Given the description of an element on the screen output the (x, y) to click on. 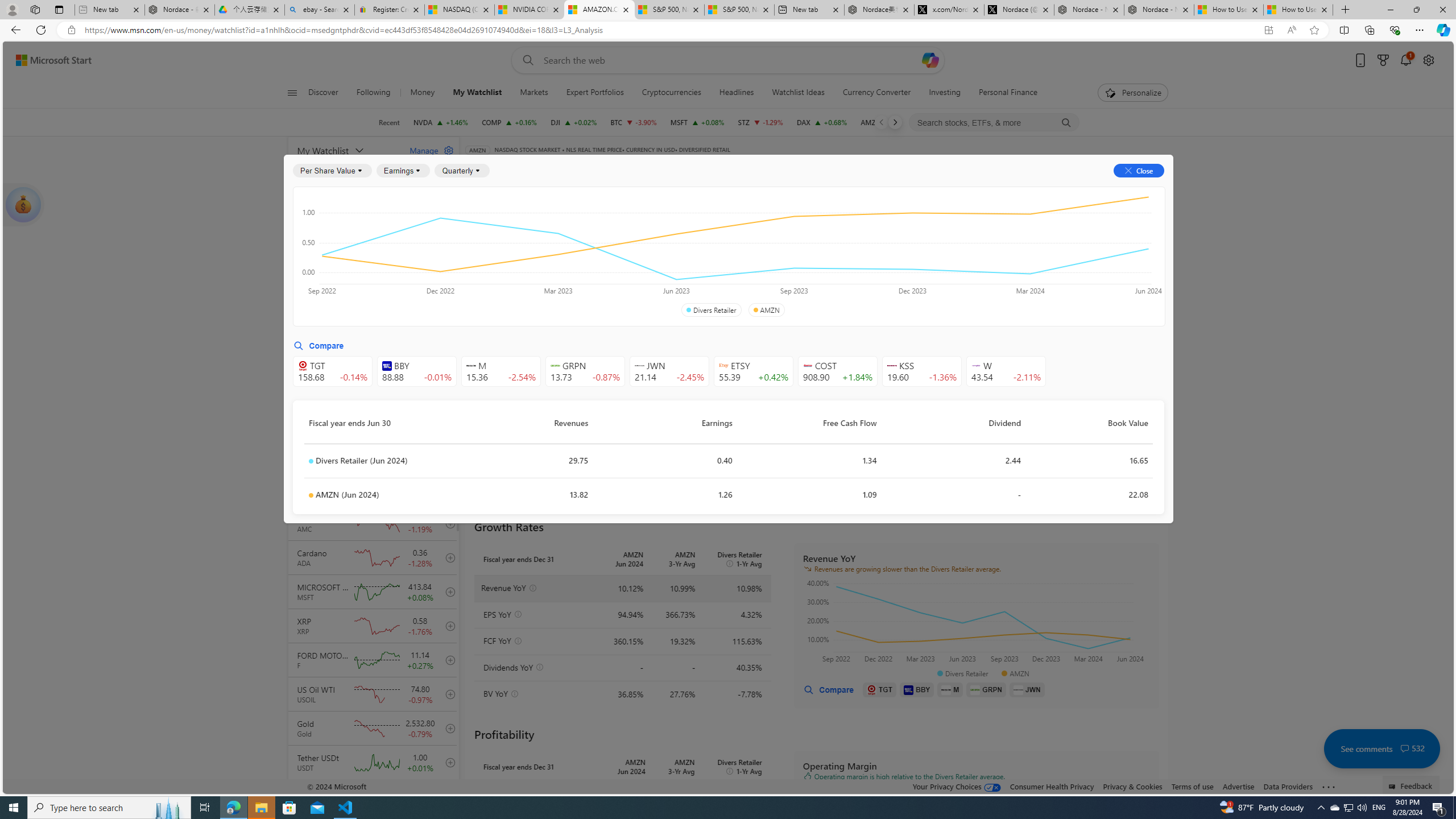
Headlines (736, 92)
Read aloud this page (Ctrl+Shift+U) (1291, 29)
Investing (944, 92)
Consumer Health Privacy (1051, 786)
Compare (827, 689)
Analysis (901, 188)
Your Privacy Choices (956, 786)
Valuation (714, 253)
Per Share Value (331, 170)
Nordace (@NordaceOfficial) / X (1018, 9)
New Tab (1346, 9)
Feedback (1411, 784)
